Given the description of an element on the screen output the (x, y) to click on. 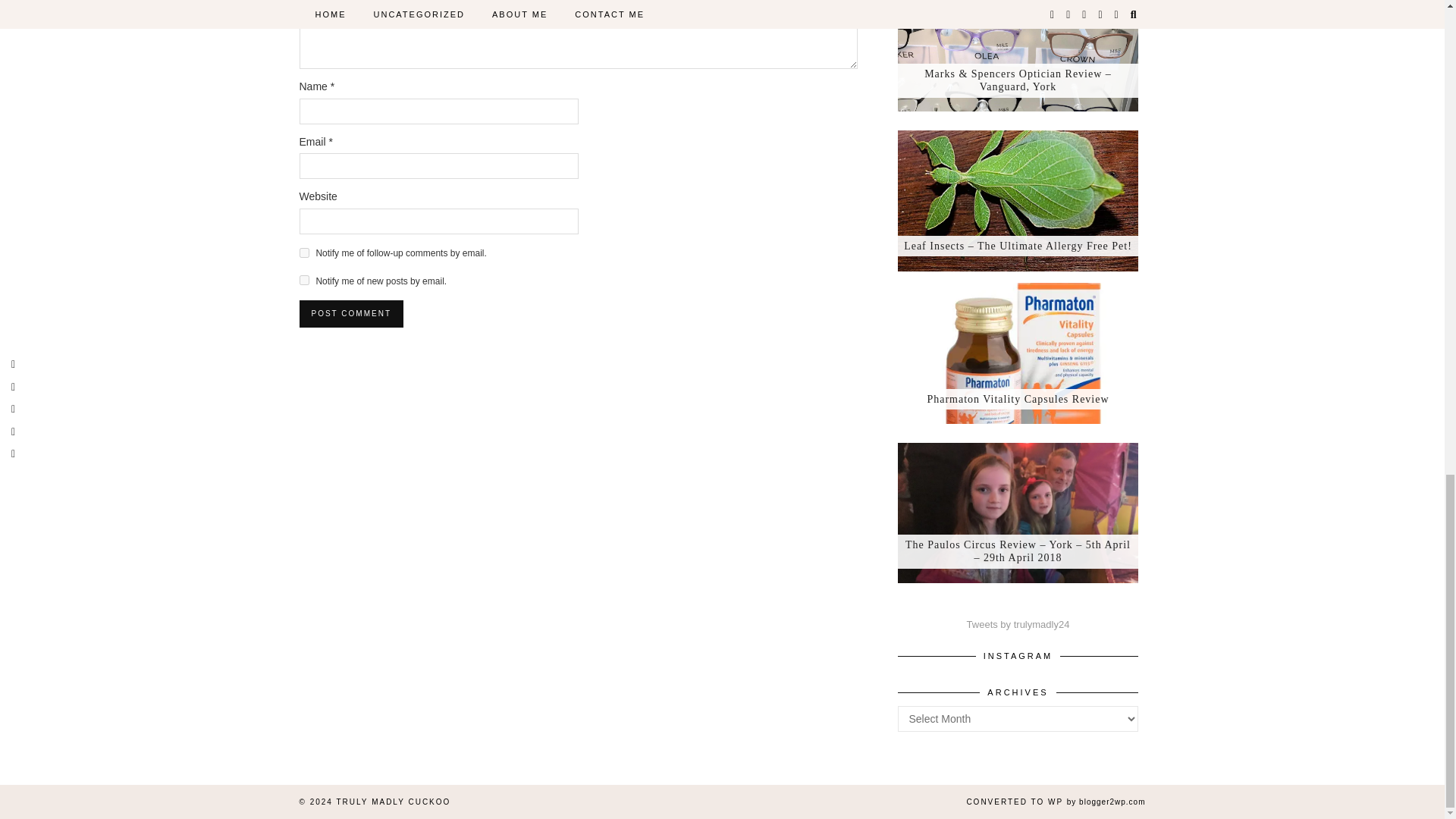
Post Comment (350, 313)
subscribe (303, 280)
subscribe (303, 252)
